Given the description of an element on the screen output the (x, y) to click on. 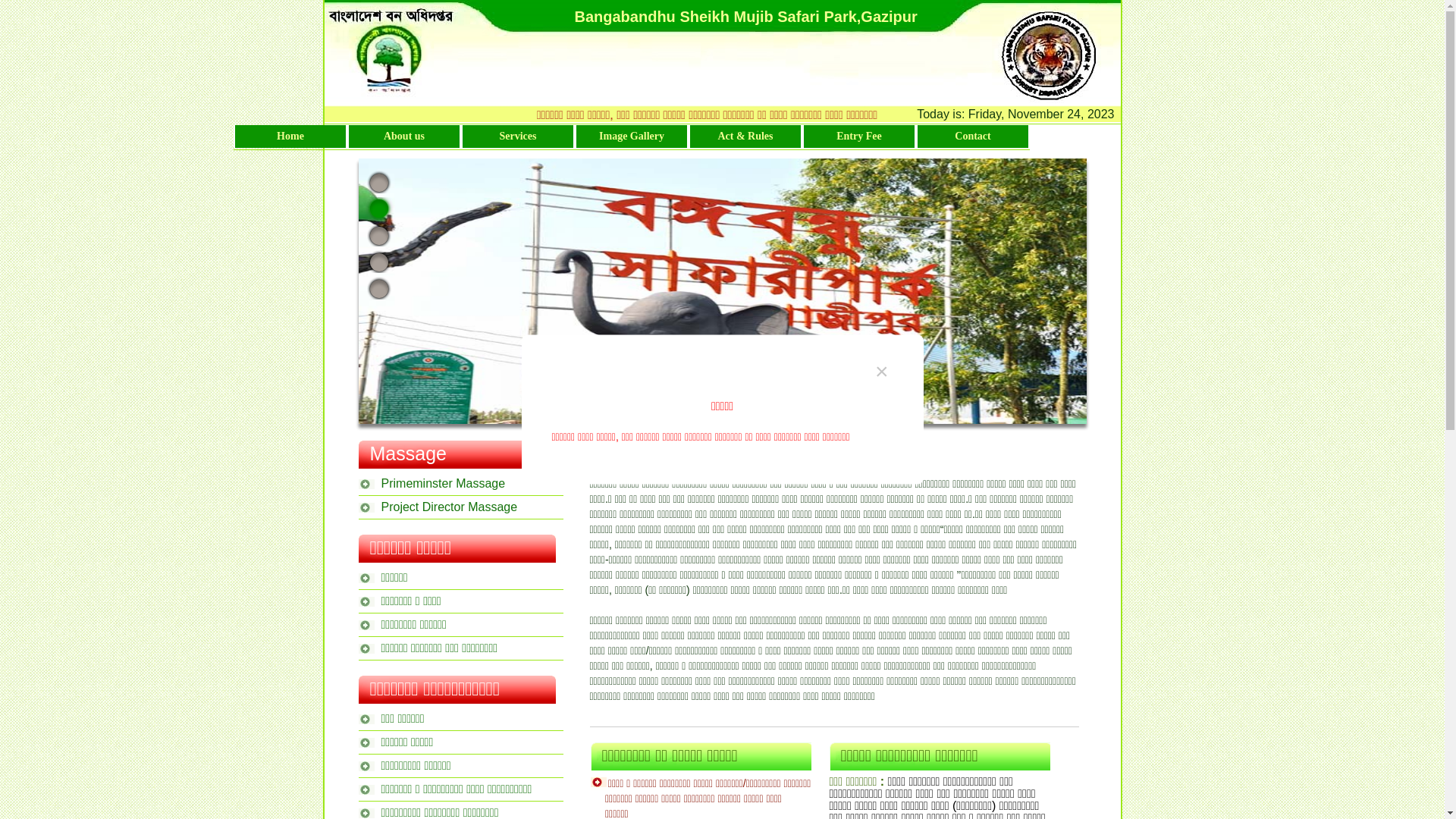
3 Element type: text (379, 234)
Contact Element type: text (972, 136)
5 Element type: text (379, 287)
Act & Rules Element type: text (745, 136)
2 Element type: text (379, 208)
1 Element type: text (379, 181)
4 Element type: text (379, 261)
Image Gallery Element type: text (631, 136)
Bangabandhu Sheikh Mujib Safari Park,Gazipur Element type: text (745, 16)
Entry Fee Element type: text (858, 136)
About us Element type: text (403, 136)
Services Element type: text (517, 136)
Primeminster Massage Element type: text (459, 480)
Home Element type: text (290, 136)
Project Director Massage Element type: text (459, 504)
